Given the description of an element on the screen output the (x, y) to click on. 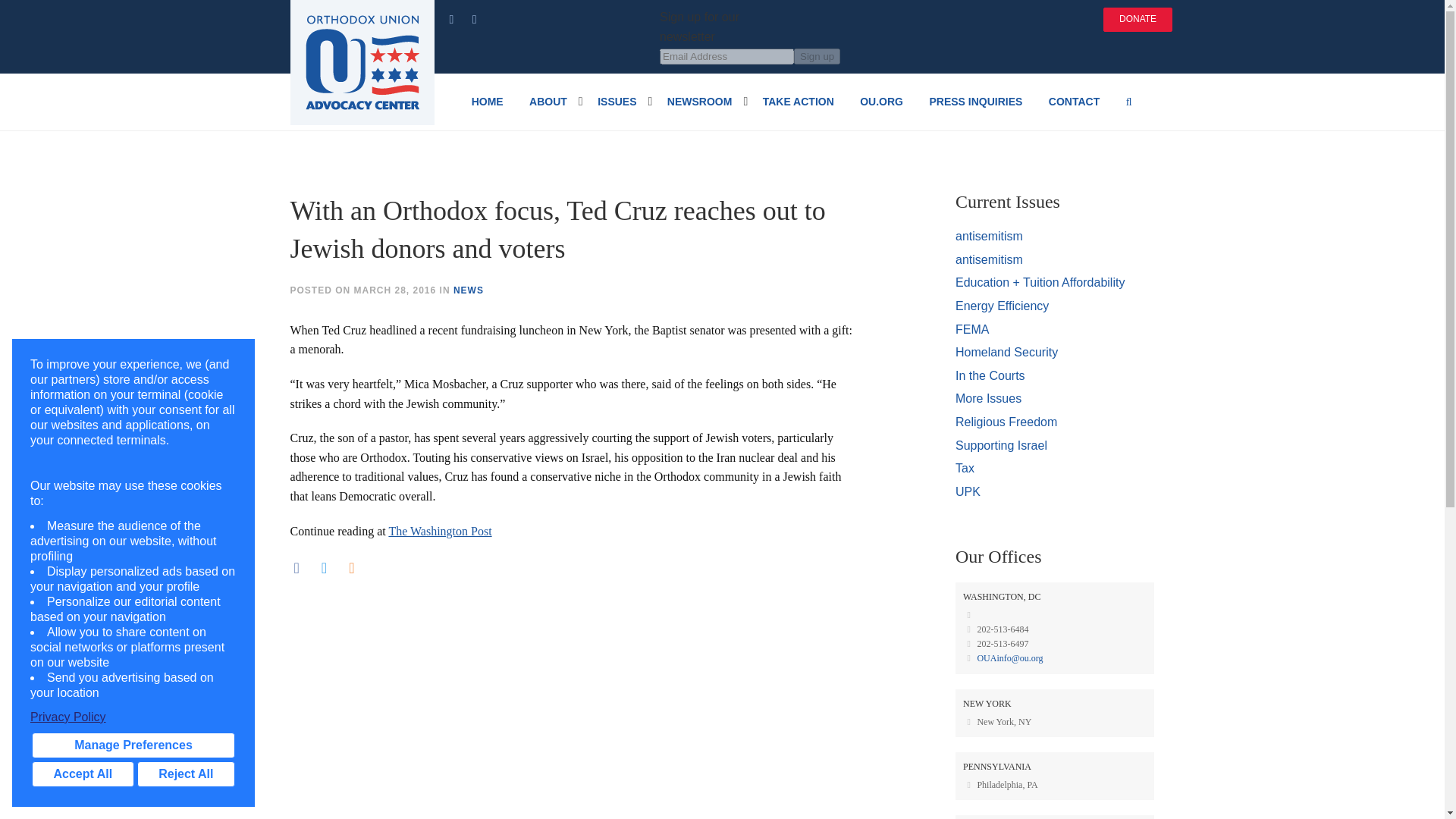
ISSUES (616, 101)
The Washington Post (440, 530)
NEWSROOM (700, 101)
Privacy Policy (132, 717)
OU.ORG (881, 101)
HOME (487, 101)
TAKE ACTION (798, 101)
ABOUT (548, 101)
PRESS INQUIRIES (975, 101)
Reject All (185, 774)
Accept All (82, 774)
Manage Preferences (133, 745)
DONATE (1137, 19)
CONTACT (1073, 101)
NEWS (467, 290)
